Given the description of an element on the screen output the (x, y) to click on. 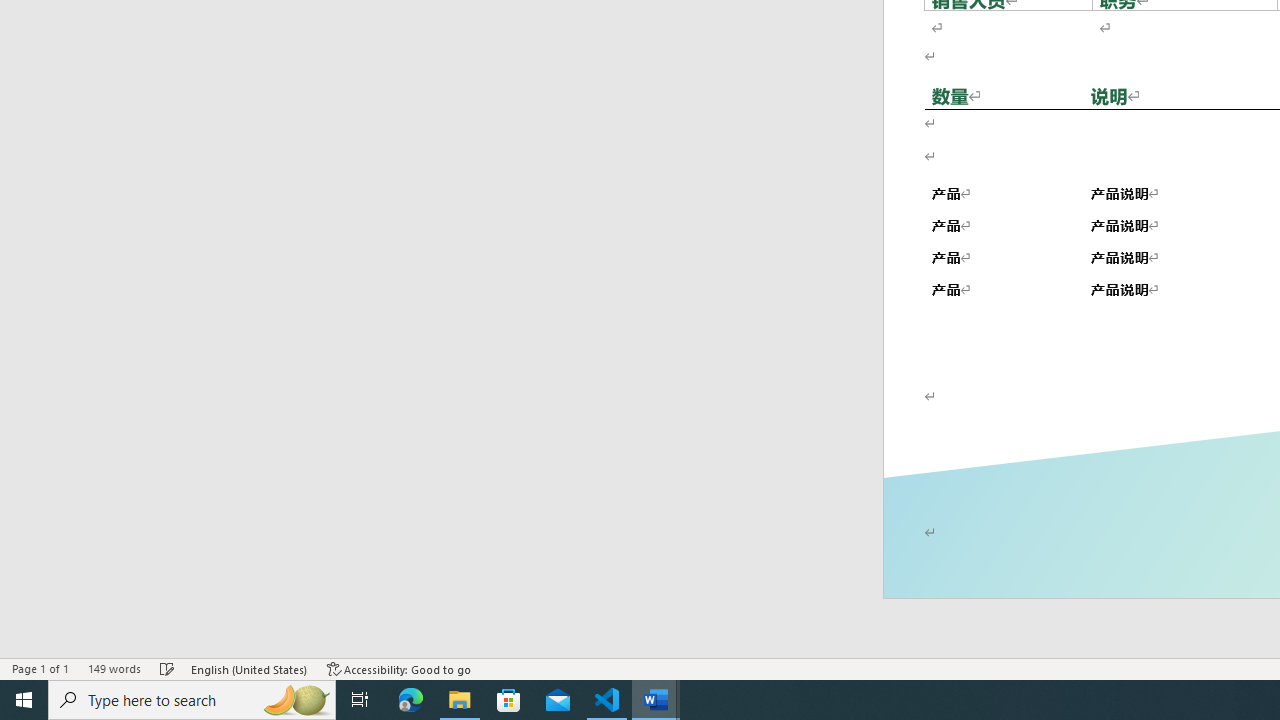
Page Number Page 1 of 1 (39, 668)
